Given the description of an element on the screen output the (x, y) to click on. 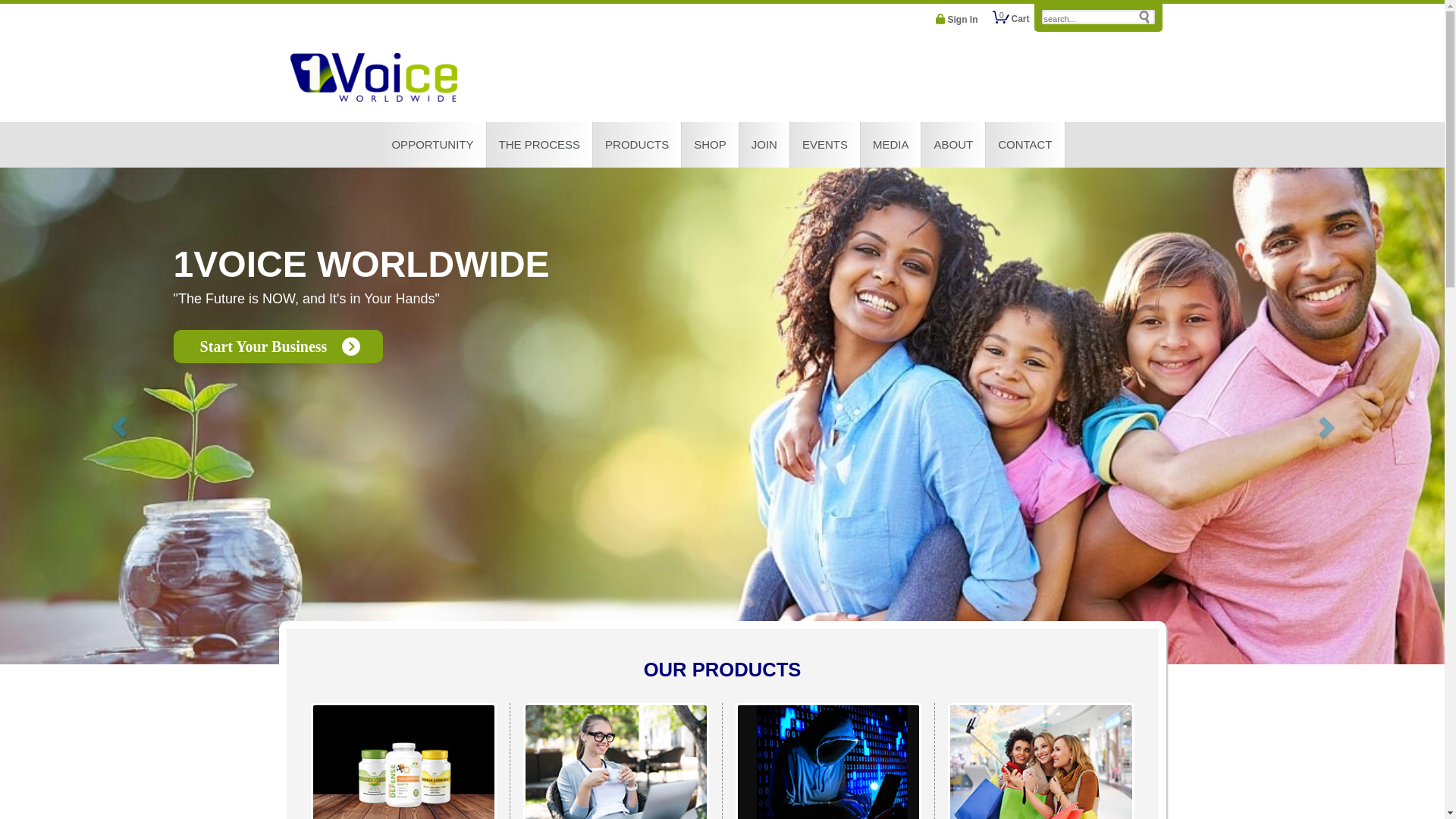
THE PROCESS Element type: text (539, 144)
 Start Your Business Element type: text (278, 346)
SHOP Element type: text (709, 144)
PRODUCTS Element type: text (636, 144)
EVENTS Element type: text (824, 144)
0
Cart Element type: text (1010, 18)
Previous Element type: text (108, 415)
Search Element type: text (1152, 19)
ABOUT Element type: text (952, 144)
OPPORTUNITY Element type: text (432, 144)
MEDIA Element type: text (890, 144)
CONTACT Element type: text (1024, 144)
Sign In Element type: text (956, 18)
JOIN Element type: text (764, 144)
Next Element type: text (1335, 415)
